Given the description of an element on the screen output the (x, y) to click on. 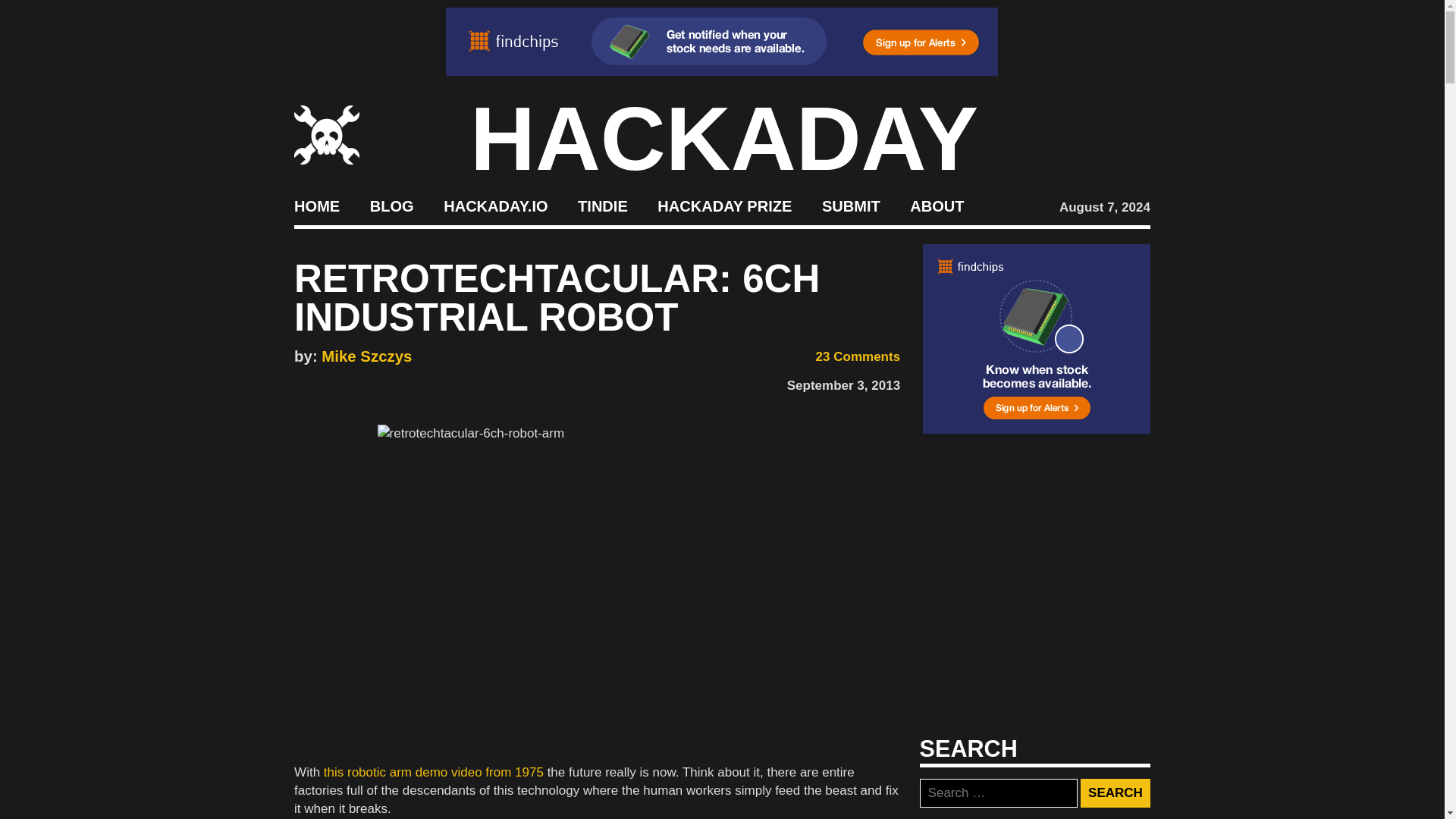
this robotic arm demo video from 1975 (433, 771)
HACKADAY.IO (495, 205)
Search (1115, 792)
September 3, 2013 - 12:01 pm (843, 385)
HACKADAY PRIZE (725, 205)
HOME (316, 205)
Share on Twitter (324, 381)
Build Something that Matters (725, 205)
Share on Facebook (301, 381)
Share on Hacker News (347, 381)
HACKADAY (724, 138)
Mike Szczys (366, 356)
Copy title or shortlink (391, 381)
23 Comments (847, 356)
SUBMIT (851, 205)
